Given the description of an element on the screen output the (x, y) to click on. 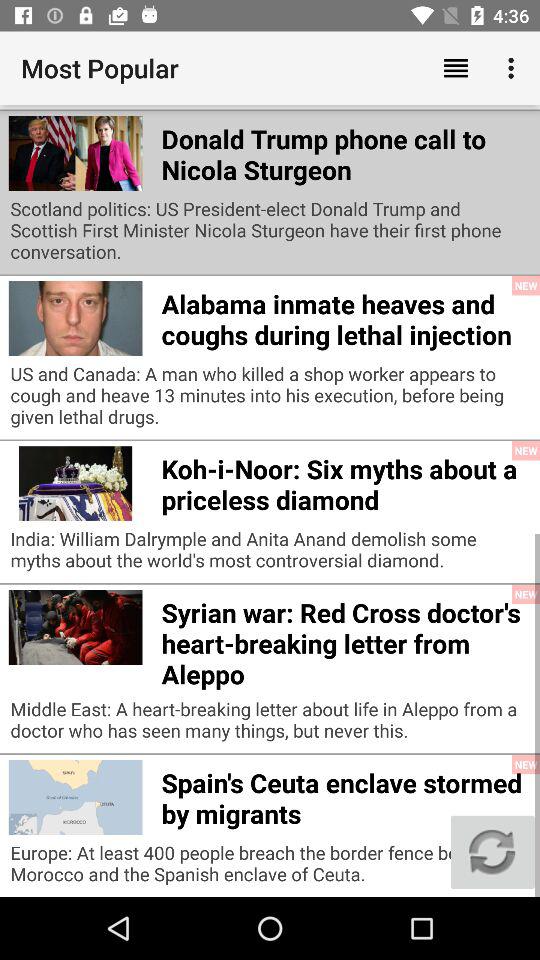
open app below the india william dalrymple item (345, 640)
